Given the description of an element on the screen output the (x, y) to click on. 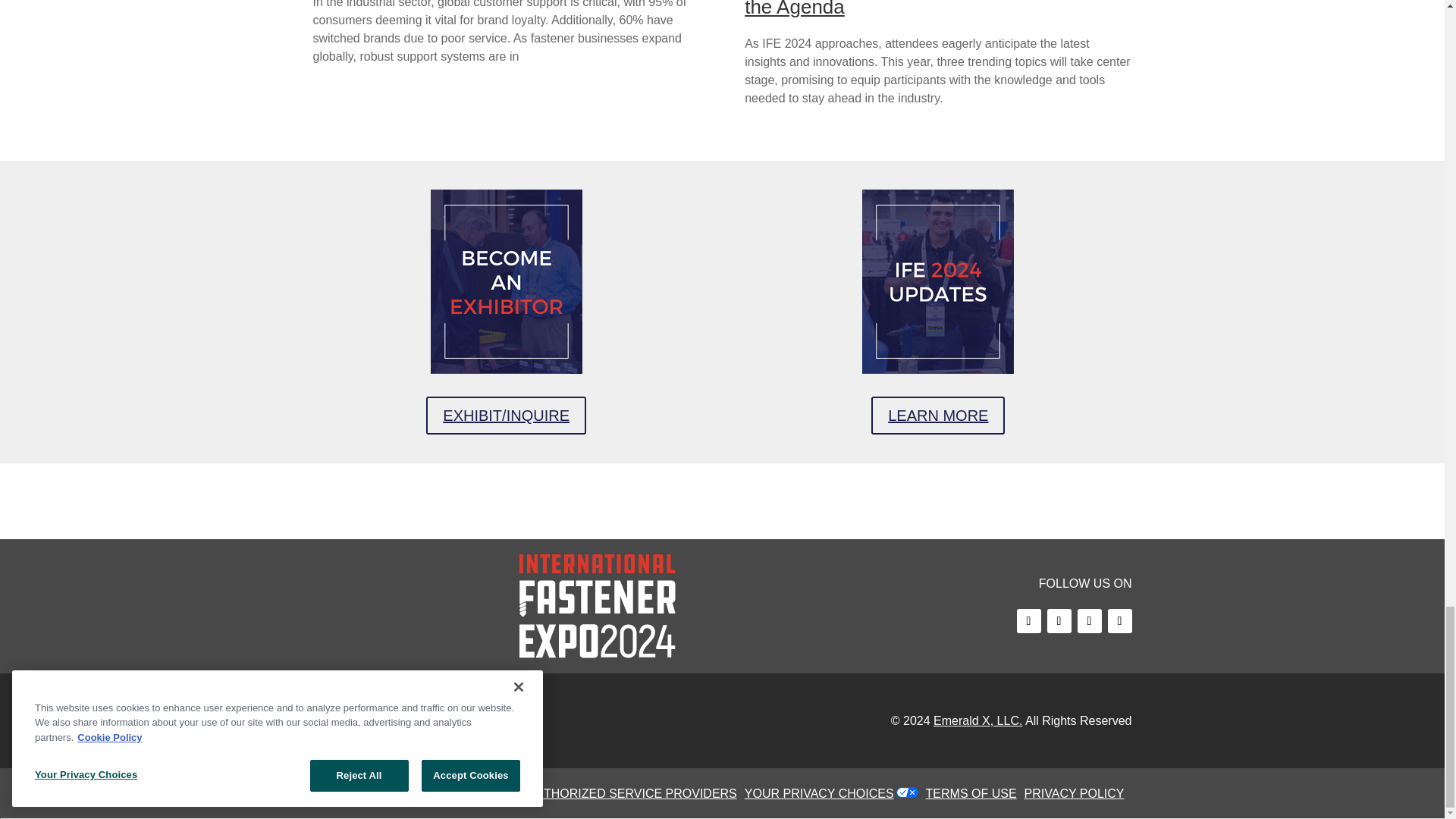
Follow on X (1058, 621)
terms-of-use (975, 793)
Follow on LinkedIn (1088, 621)
privacy-policy (1078, 793)
Follow on Instagram (1118, 621)
Follow on Facebook (1028, 621)
3rd party ad content (721, 500)
authorized-service-providers (635, 793)
careers (492, 793)
IFE 2024 Footer Logo (597, 606)
your-privacy-choices (822, 793)
about (435, 793)
